Given the description of an element on the screen output the (x, y) to click on. 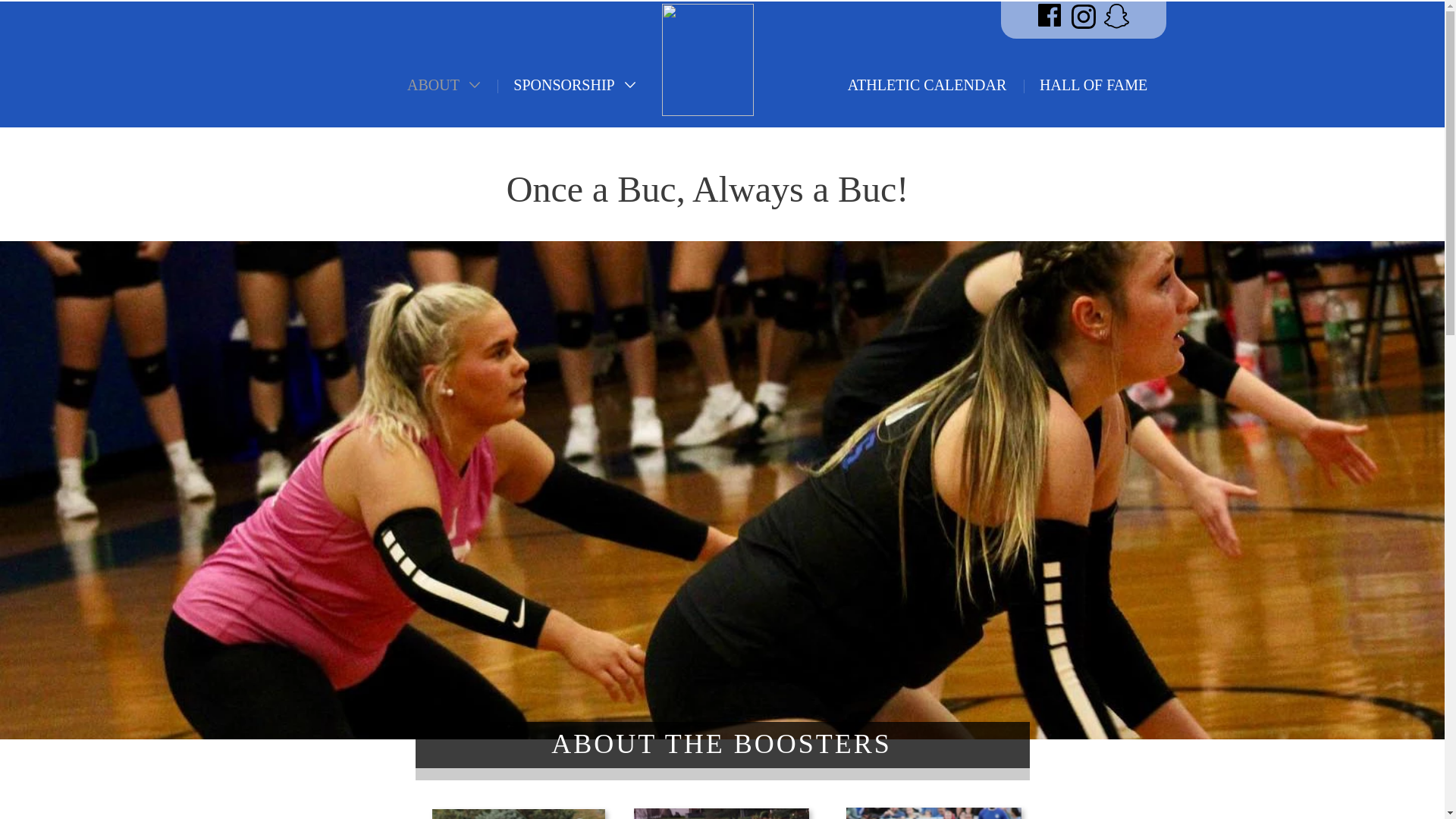
ATHLETIC CALENDAR (926, 85)
SPONSORSHIP (574, 85)
HALL OF FAME (1092, 85)
ABOUT (444, 85)
